Given the description of an element on the screen output the (x, y) to click on. 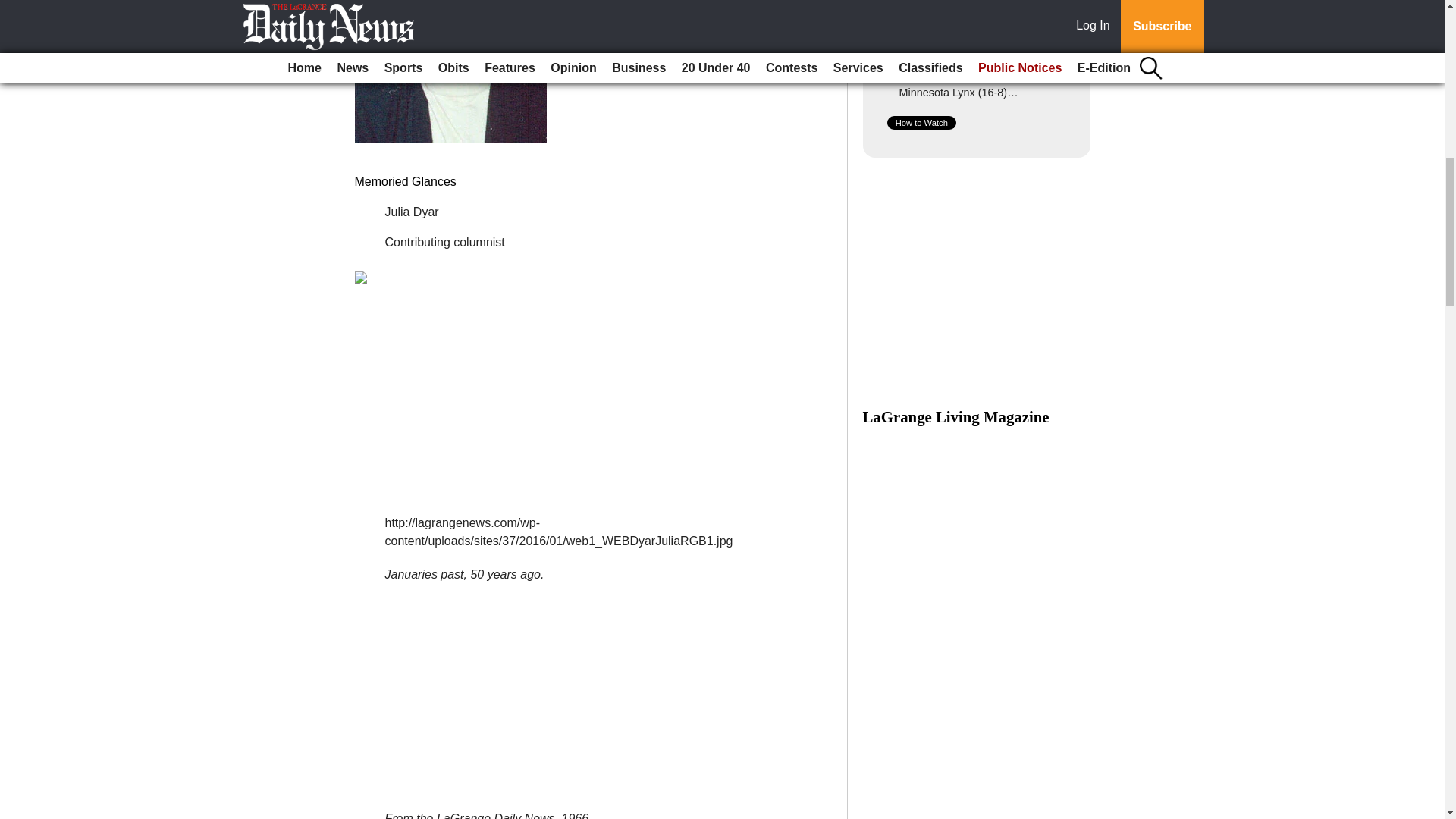
How to Watch (921, 122)
